Given the description of an element on the screen output the (x, y) to click on. 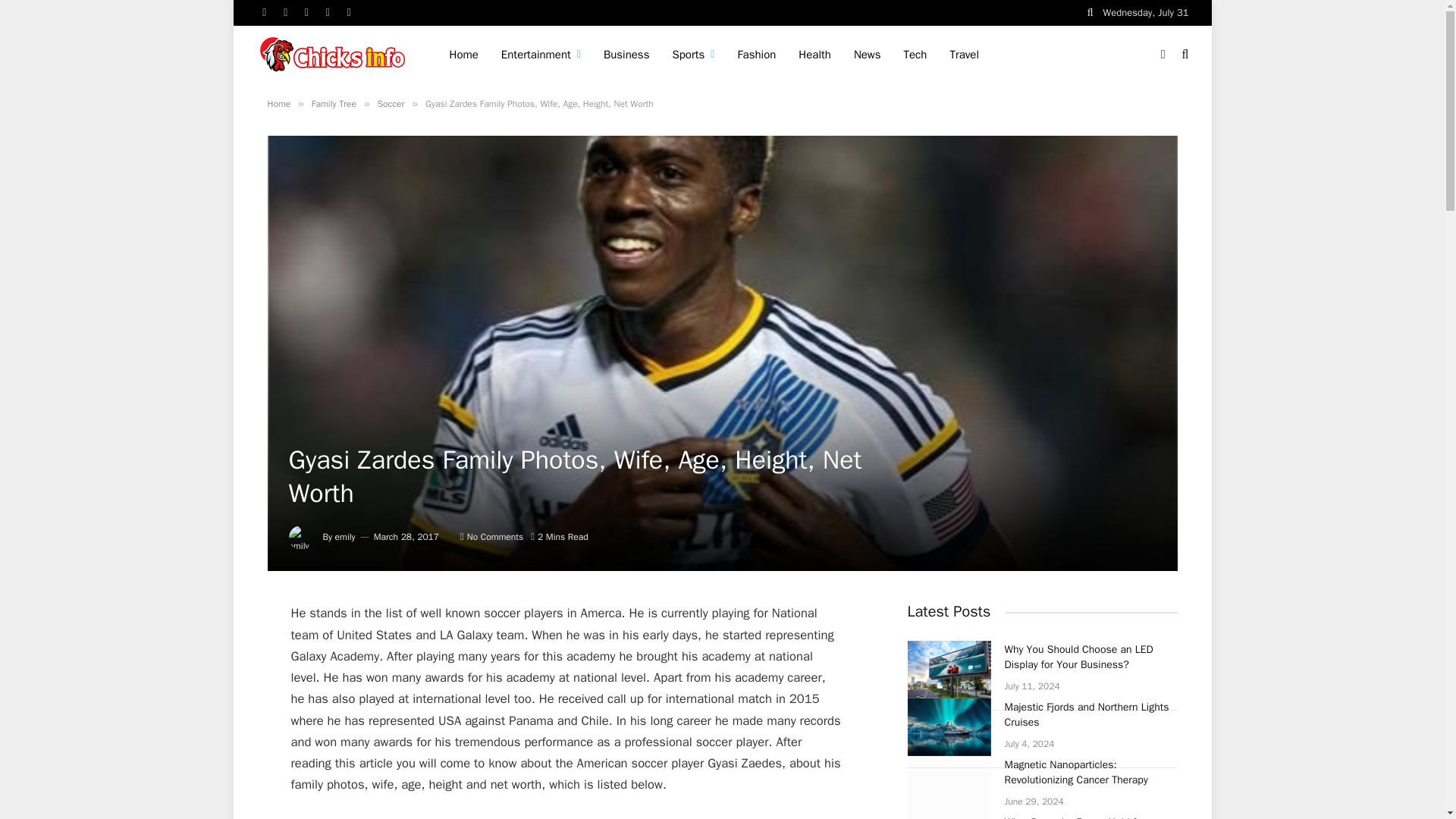
Switch to Dark Design - easier on eyes. (1163, 54)
Chicksinfo.com (334, 53)
Posts by emily (344, 536)
Home (463, 54)
Entertainment (540, 54)
